Given the description of an element on the screen output the (x, y) to click on. 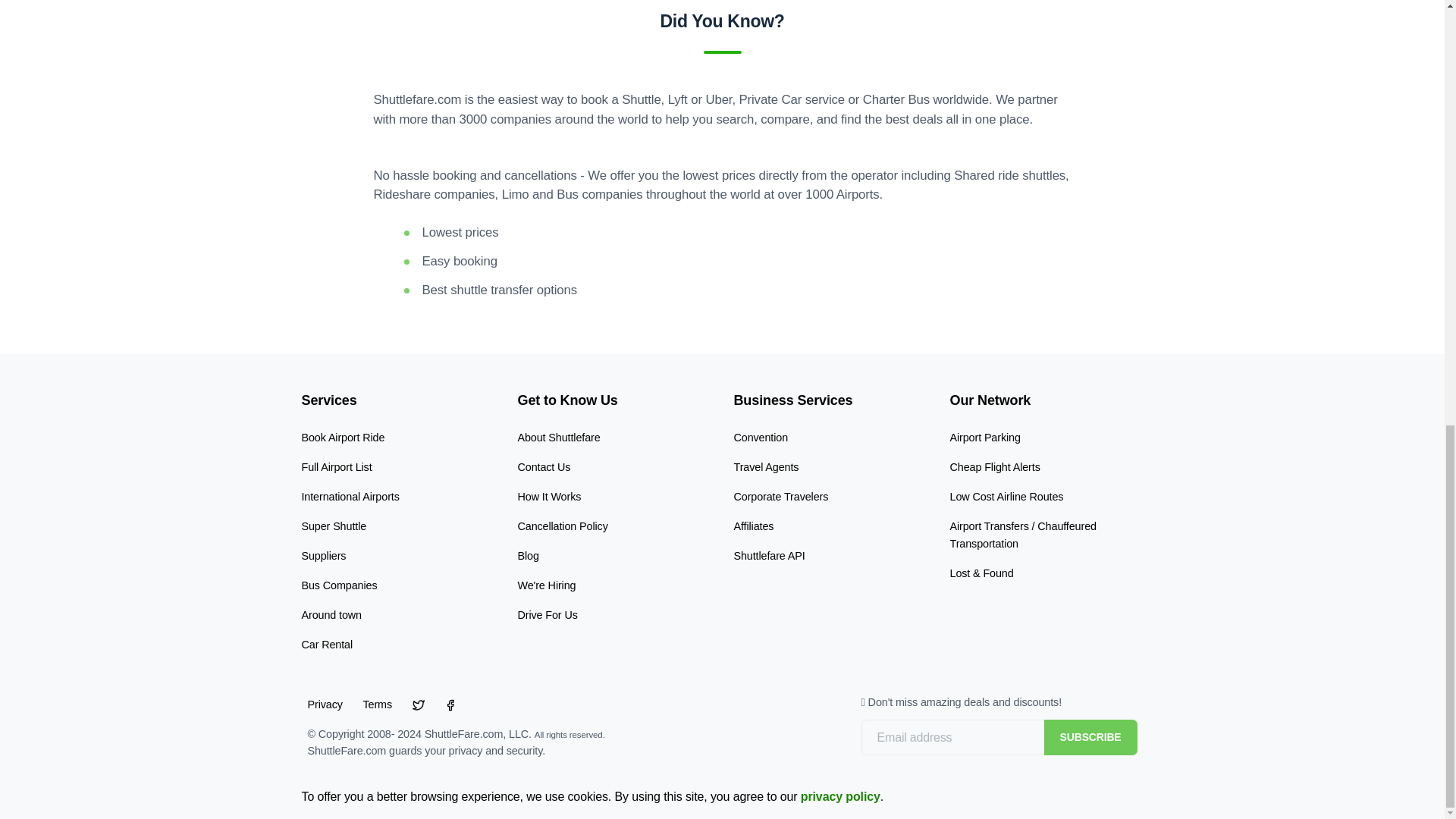
Book Airport Ride (343, 437)
About Shuttlefare (557, 437)
International Airports (349, 496)
Bus Companies (339, 585)
Full Airport List (336, 467)
Blog (527, 555)
Around town (331, 614)
Contact Us (543, 467)
Drive For Us (546, 614)
Car Rental (327, 644)
